Given the description of an element on the screen output the (x, y) to click on. 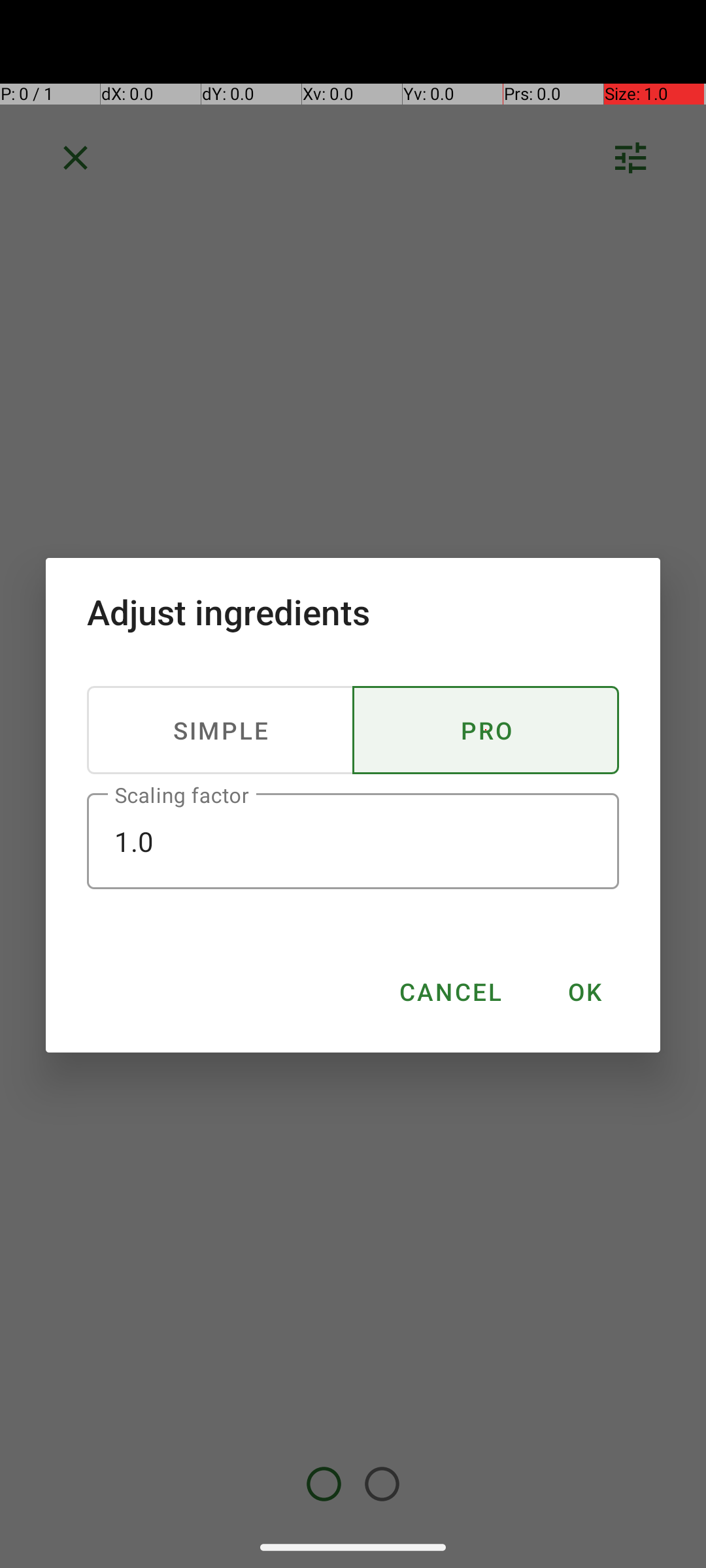
1.0 Element type: android.widget.EditText (352, 841)
